Given the description of an element on the screen output the (x, y) to click on. 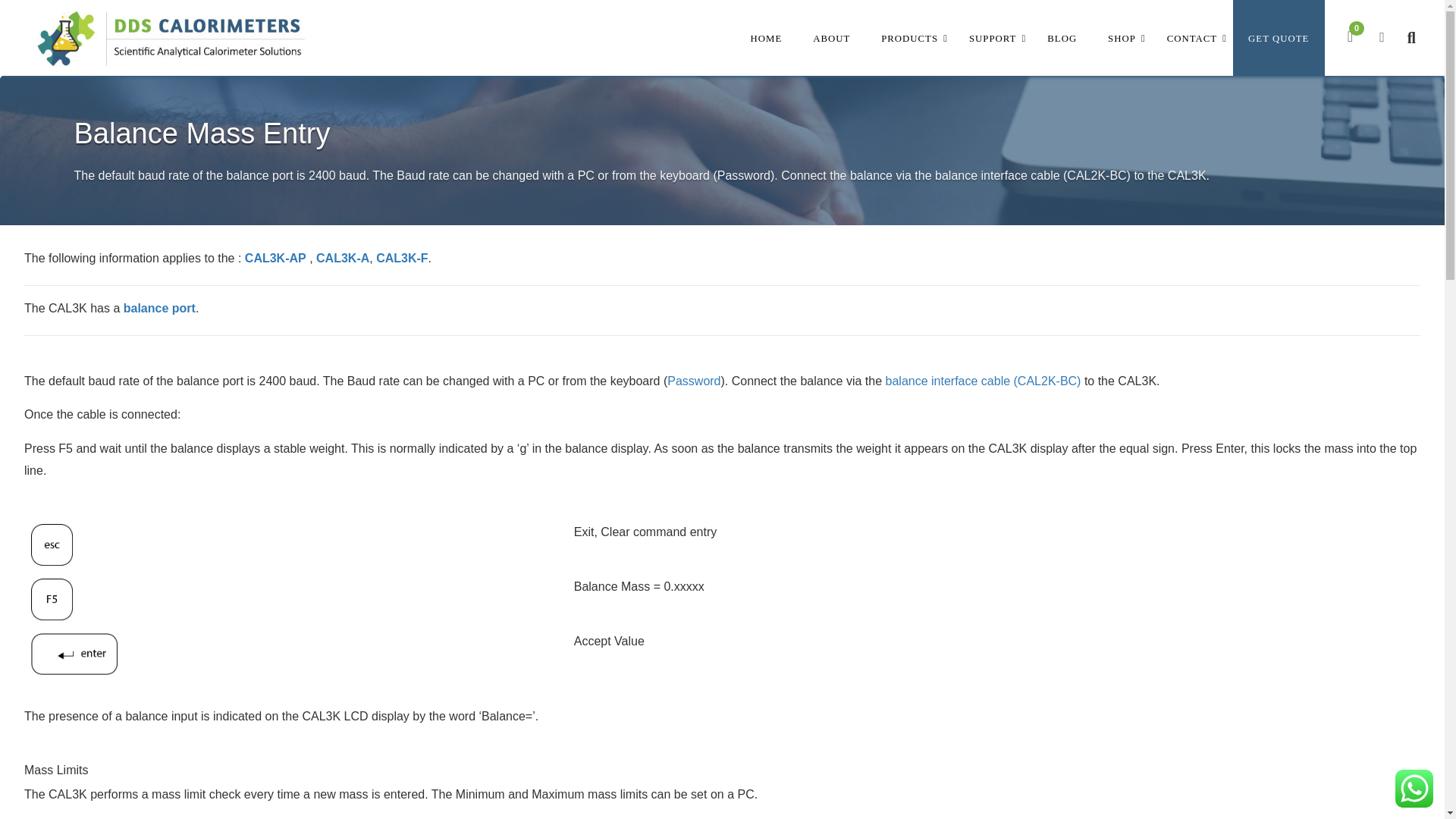
DDS Calorimeters (171, 37)
